Given the description of an element on the screen output the (x, y) to click on. 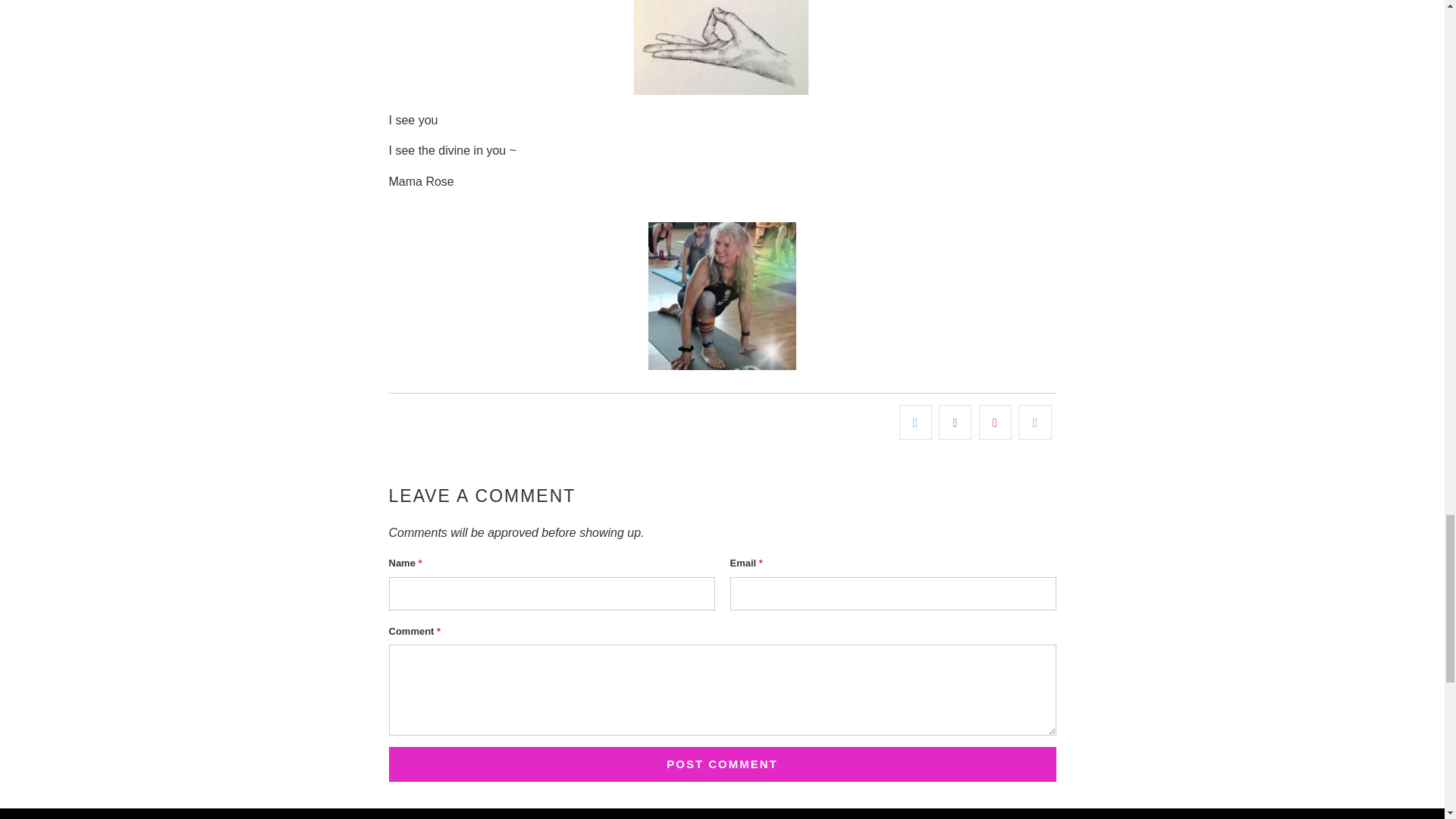
Share this on Twitter (915, 421)
Post comment (721, 764)
